Given the description of an element on the screen output the (x, y) to click on. 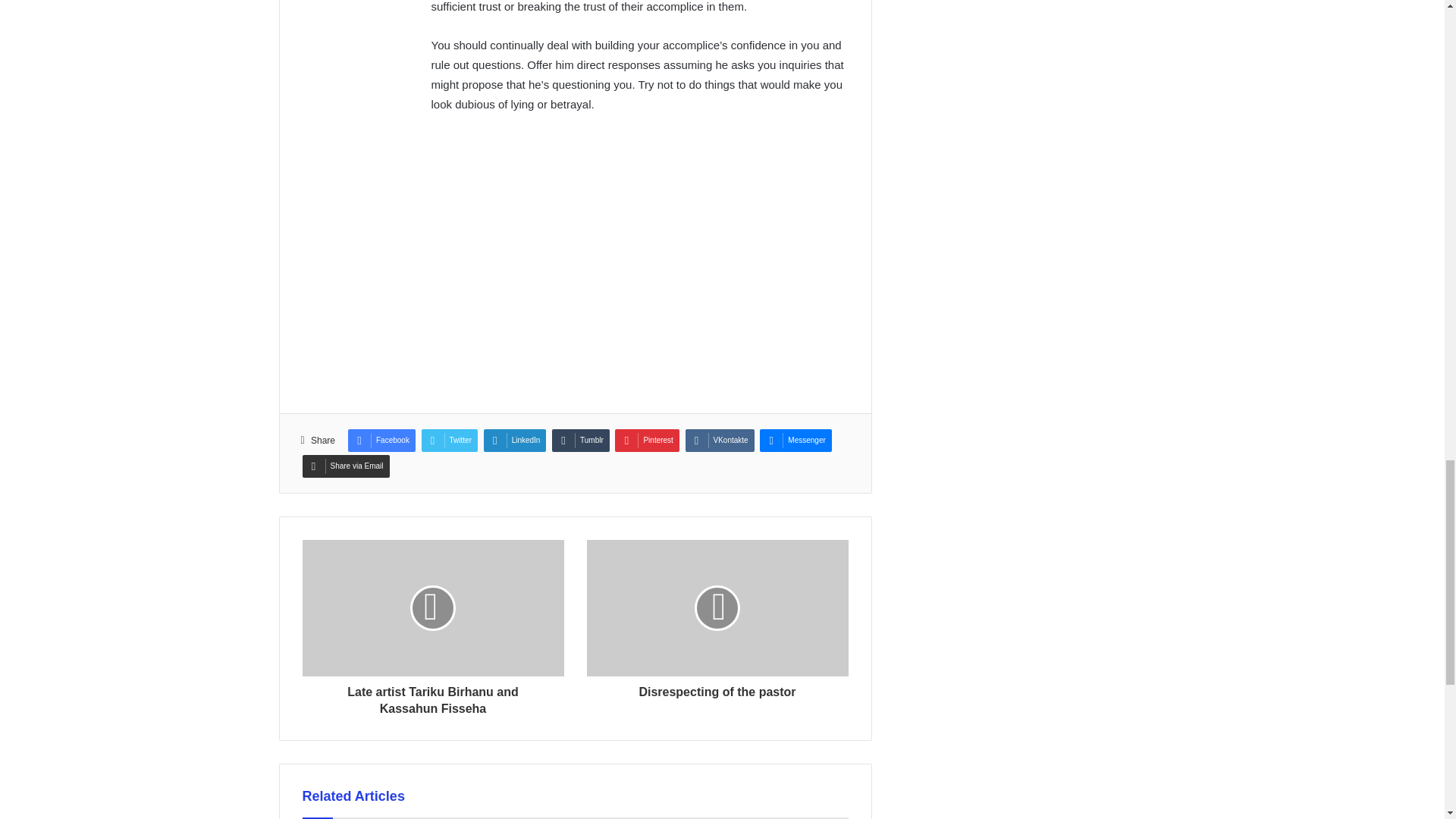
Tumblr (580, 440)
Facebook (380, 440)
LinkedIn (515, 440)
Twitter (449, 440)
Facebook (380, 440)
